Given the description of an element on the screen output the (x, y) to click on. 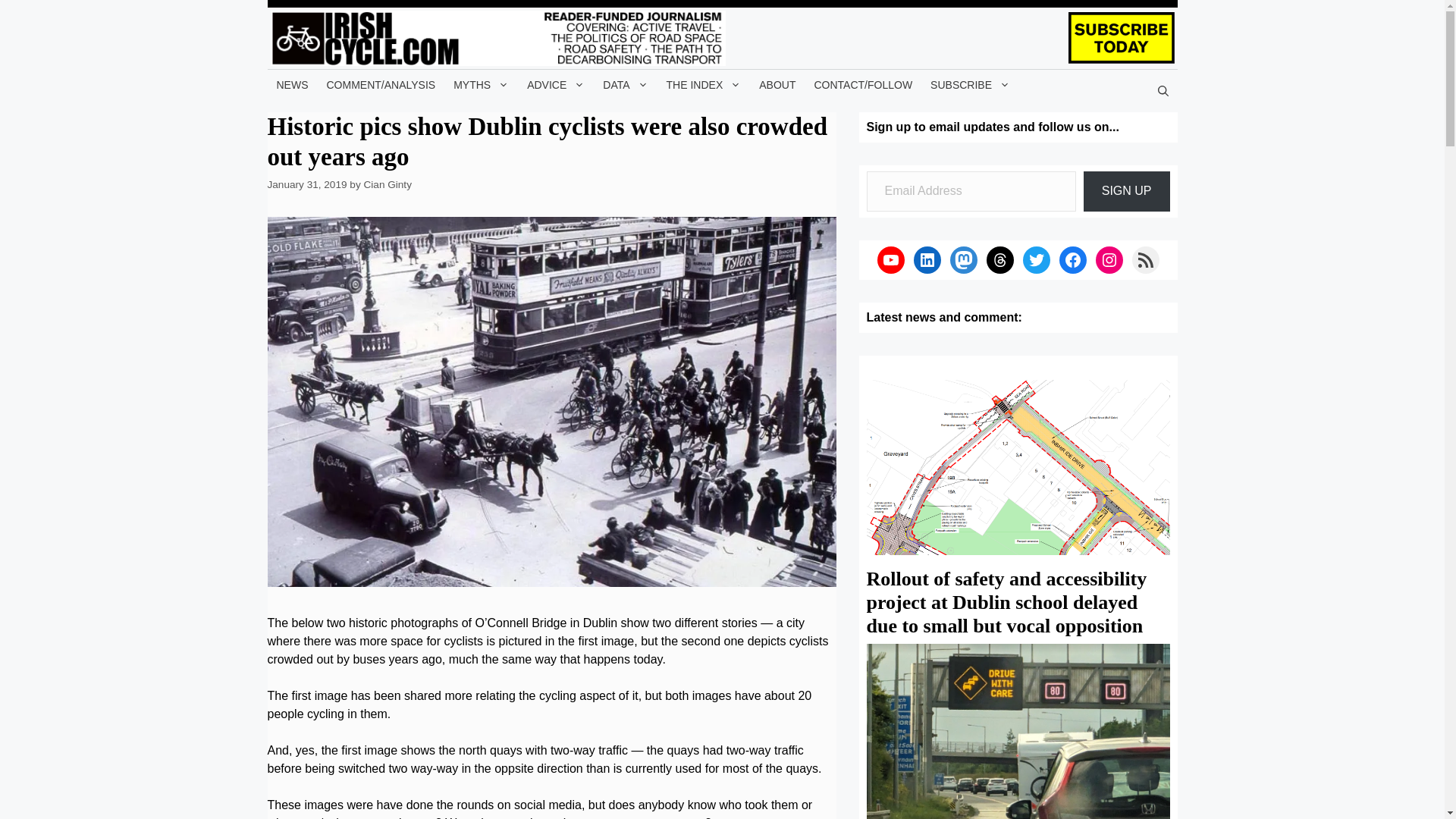
DATA (625, 84)
SUBSCRIBE (970, 84)
THE INDEX (704, 84)
ADVICE (556, 84)
NEWS (291, 84)
Please fill in this field. (970, 191)
View all posts by Cian Ginty (386, 184)
Cian Ginty (386, 184)
ABOUT (777, 84)
